Given the description of an element on the screen output the (x, y) to click on. 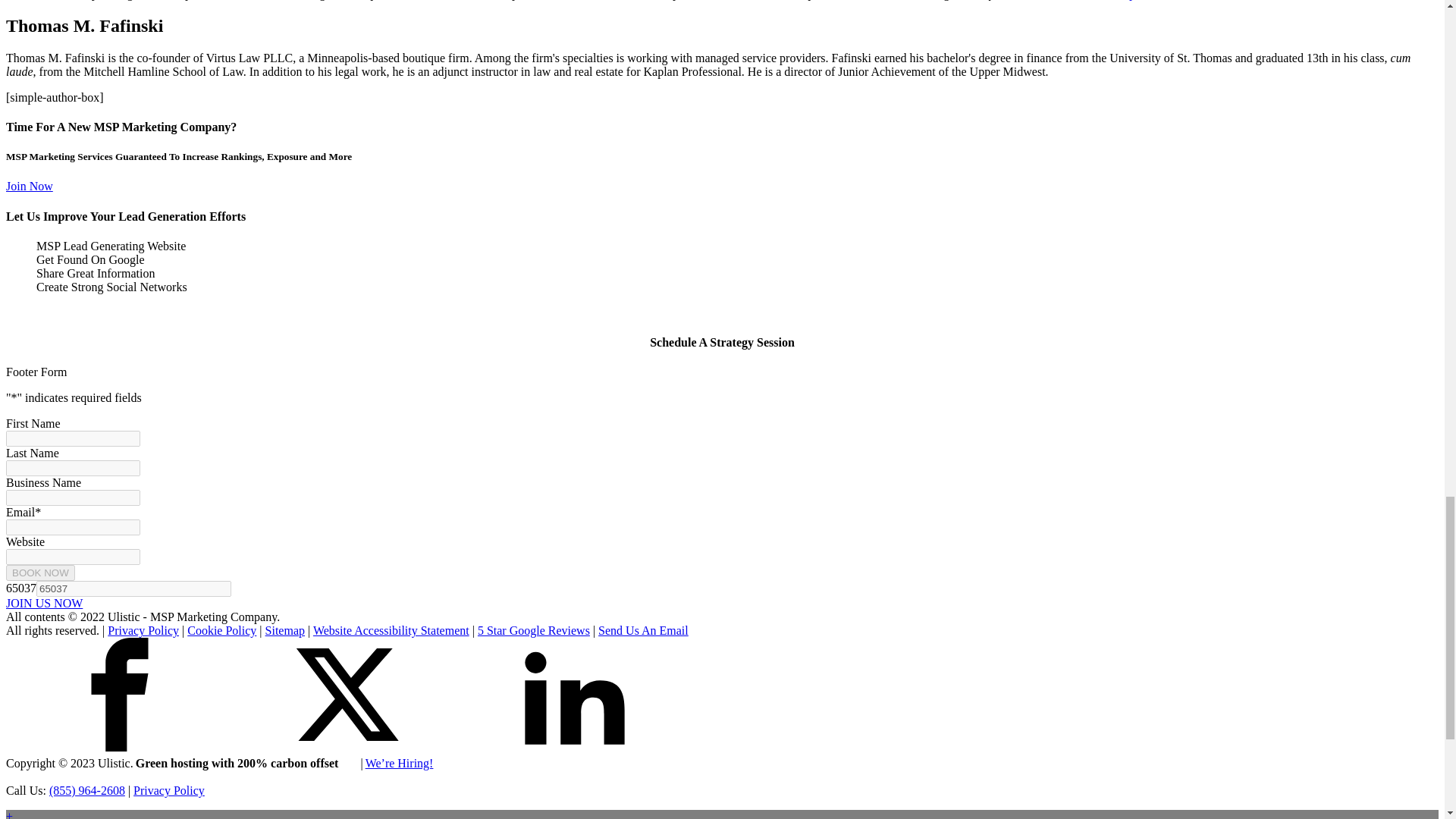
BOOK NOW (40, 572)
65037 (133, 588)
Visit our LinkedIn (574, 694)
Visit our Facebook (118, 694)
Website Accessibility Statement (390, 630)
Privacy Policy (169, 789)
Visit our Facebook (118, 747)
Cookie Policy (221, 630)
BOOK NOW (40, 572)
Join Now (28, 185)
